Given the description of an element on the screen output the (x, y) to click on. 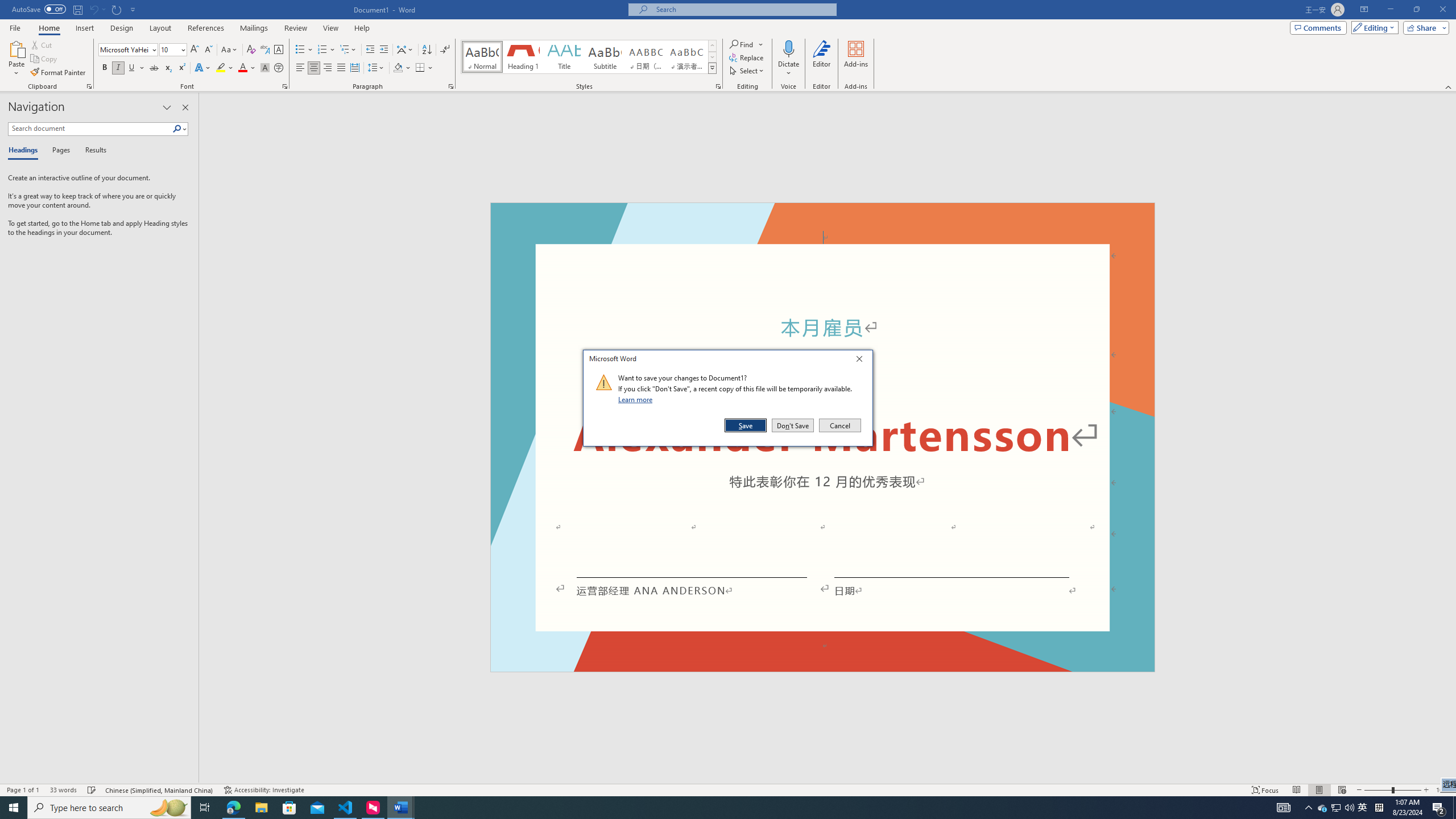
Microsoft Edge - 1 running window (233, 807)
Running applications (700, 807)
